Given the description of an element on the screen output the (x, y) to click on. 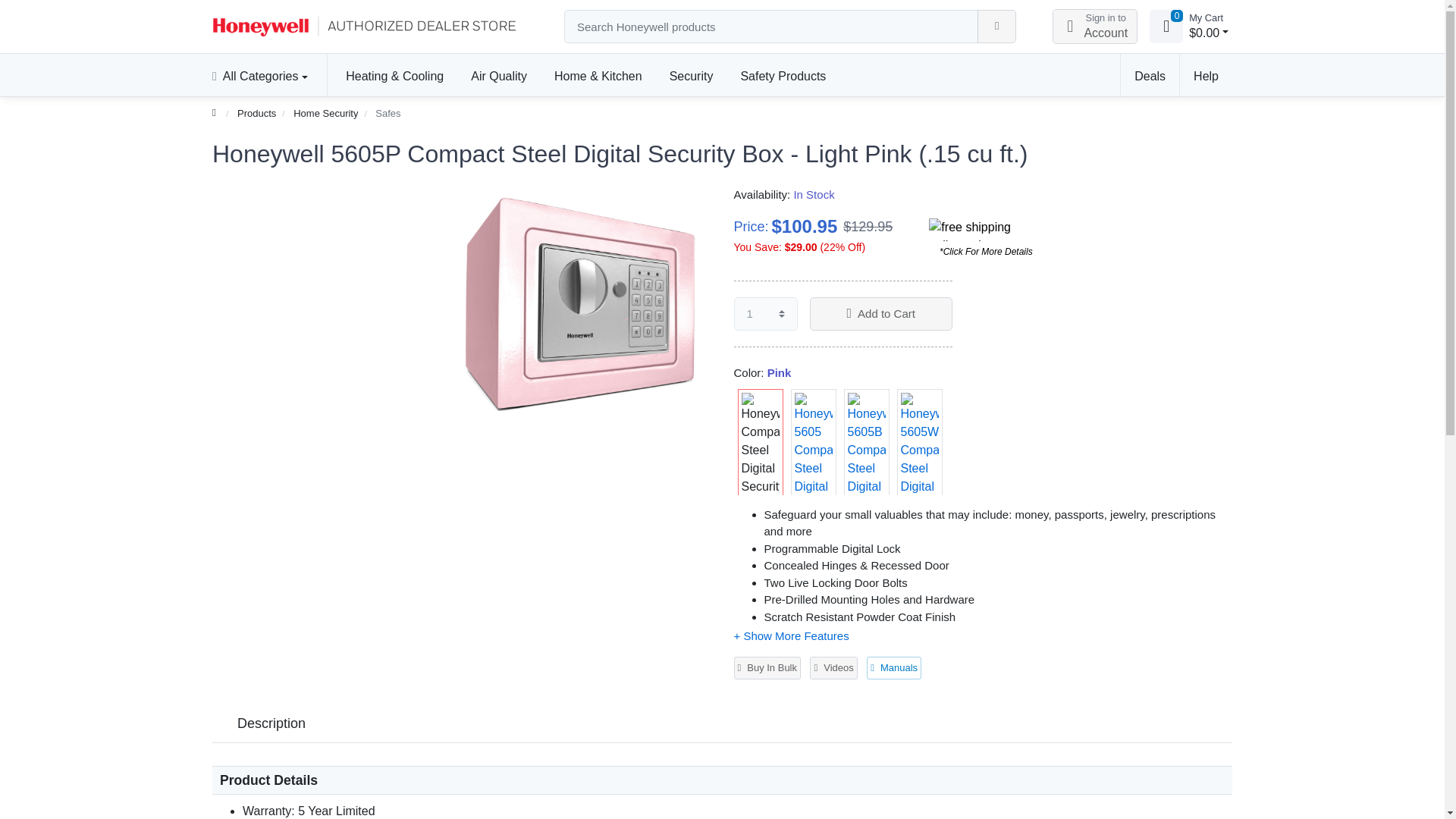
All Categories (266, 75)
0 (1166, 26)
